Given the description of an element on the screen output the (x, y) to click on. 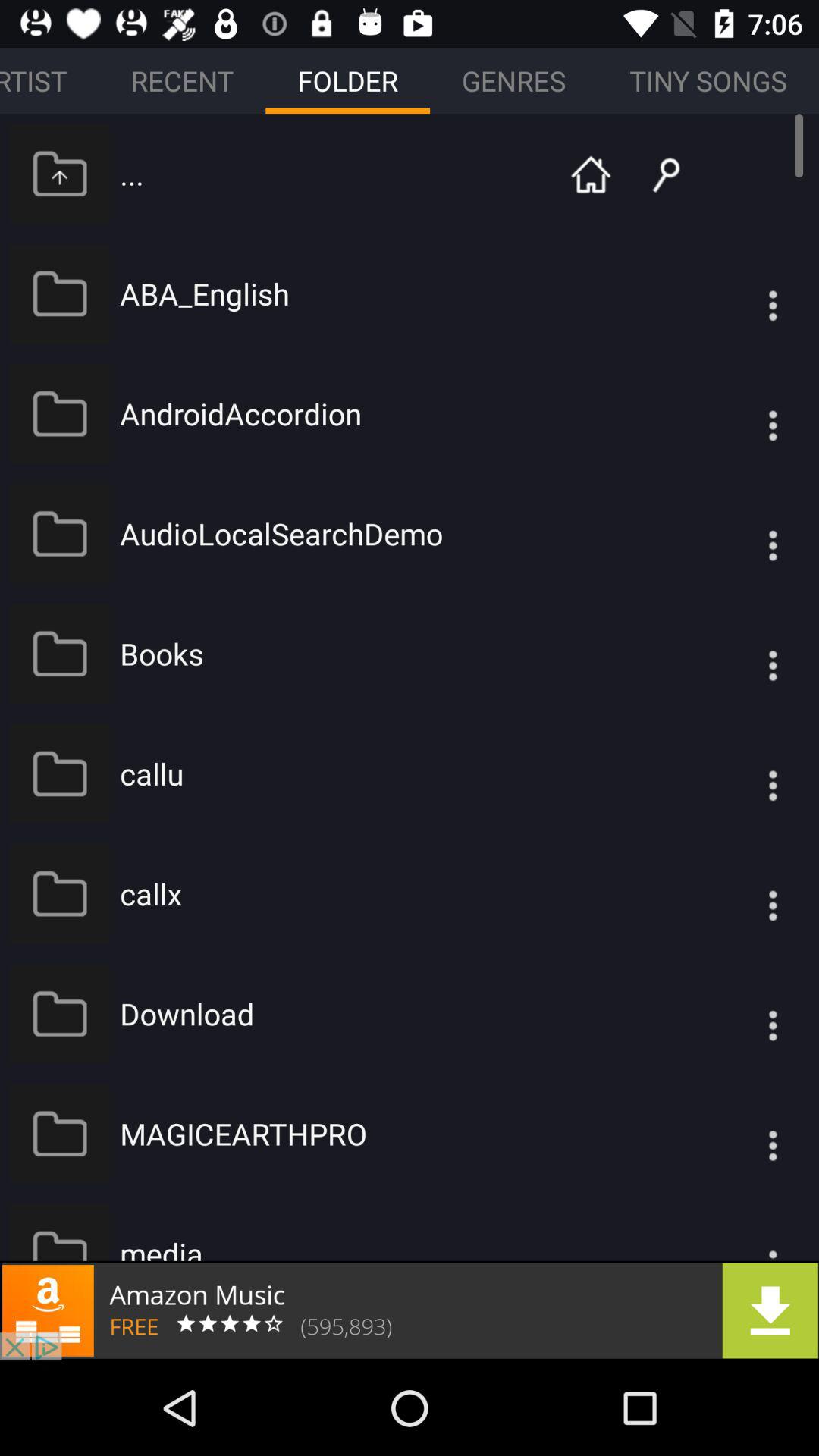
expand options (742, 1230)
